Given the description of an element on the screen output the (x, y) to click on. 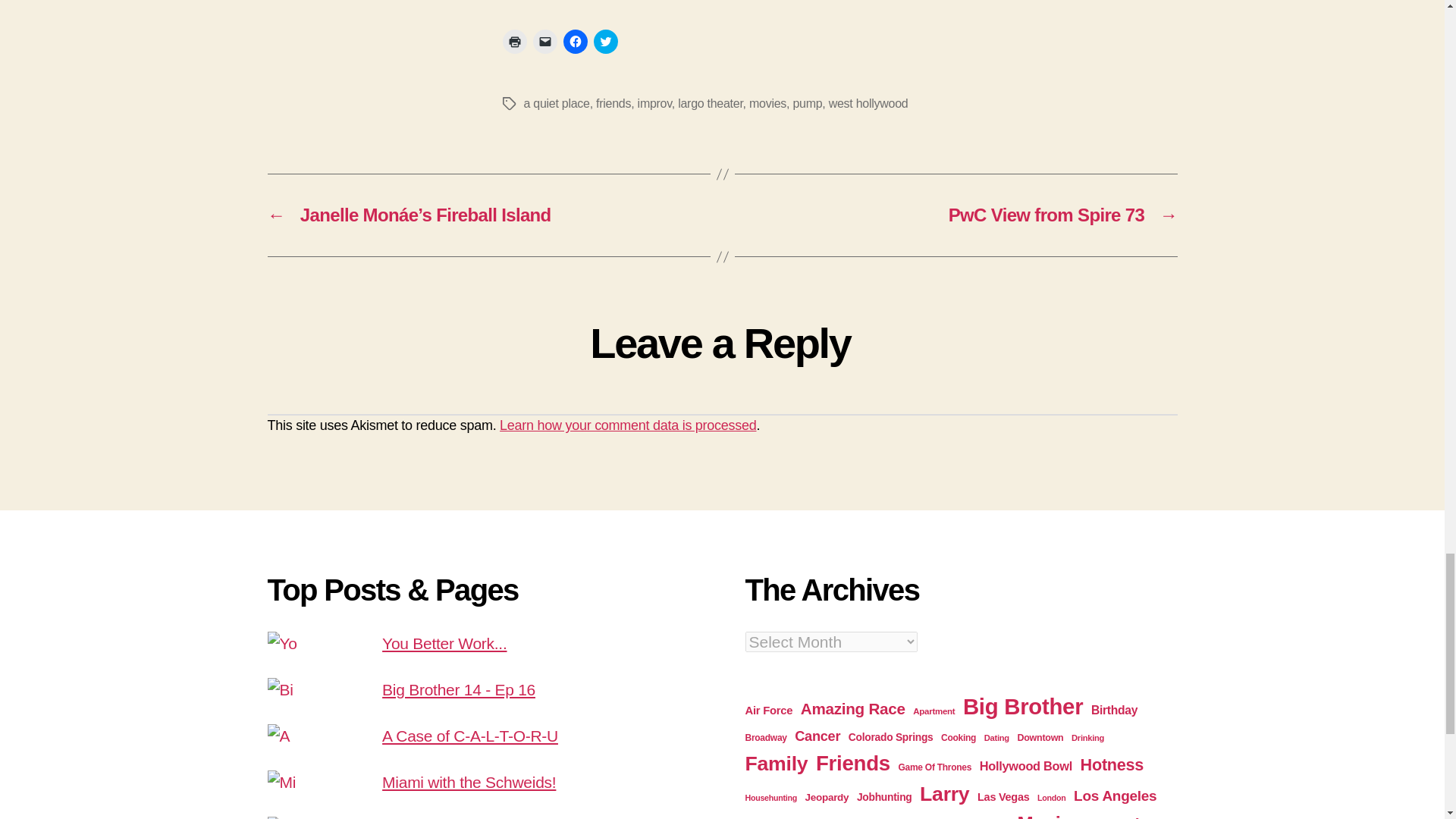
Miami with the Schweids! (468, 782)
largo theater (710, 103)
Big Brother 14 - Ep 16 (458, 689)
You Better Work... (443, 642)
friends (612, 103)
Click to share on Twitter (604, 41)
Click to share on Facebook (574, 41)
A Case of C-A-L-T-O-R-U (469, 735)
improv (654, 103)
Click to print (513, 41)
Click to email a link to a friend (544, 41)
a quiet place (555, 103)
